Given the description of an element on the screen output the (x, y) to click on. 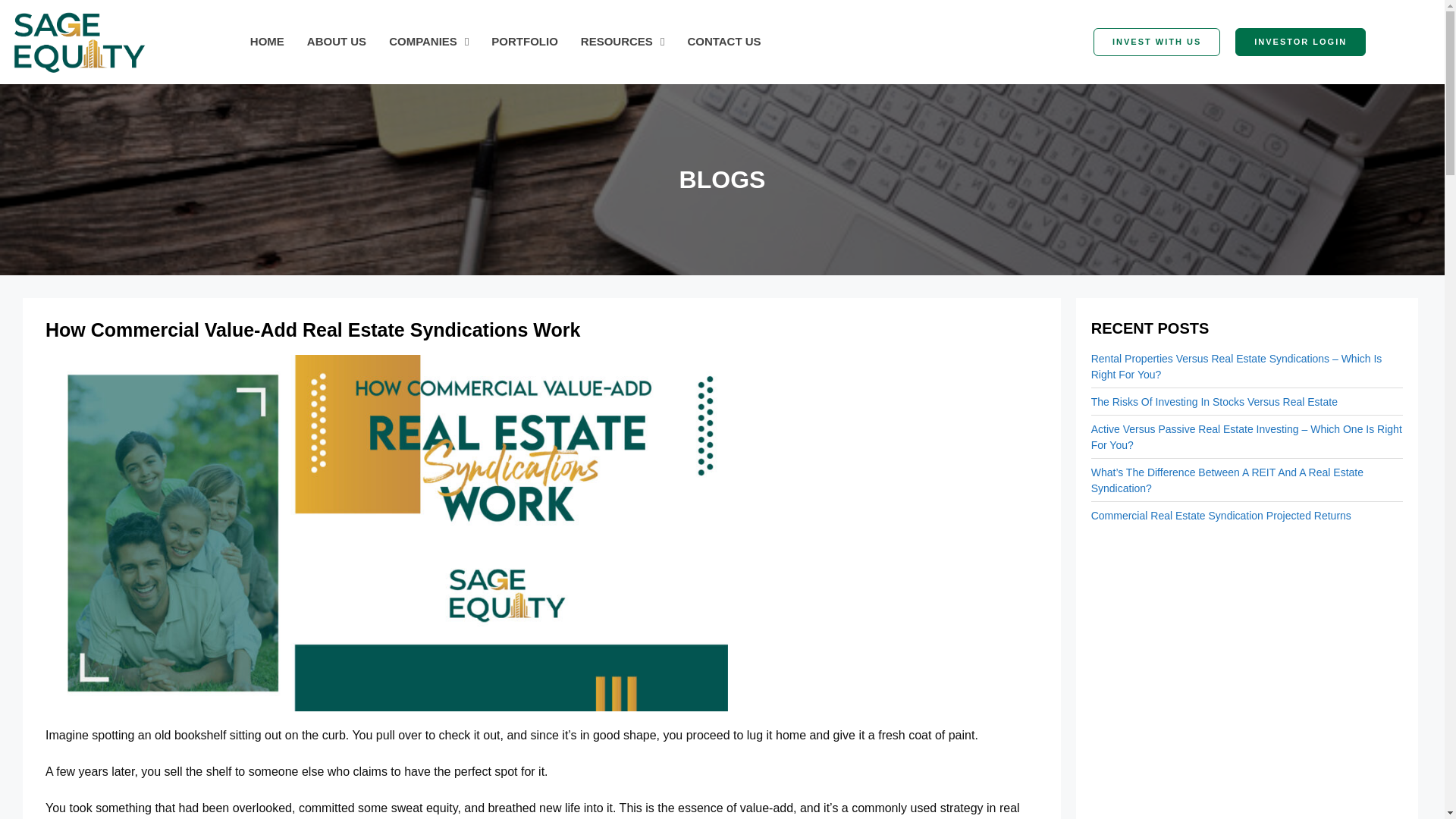
INVESTOR LOGIN (1299, 41)
PORTFOLIO (524, 41)
HOME (266, 41)
RESOURCES (623, 41)
INVEST WITH US (1156, 41)
COMPANIES (428, 41)
CONTACT US (723, 41)
ABOUT US (336, 41)
